Given the description of an element on the screen output the (x, y) to click on. 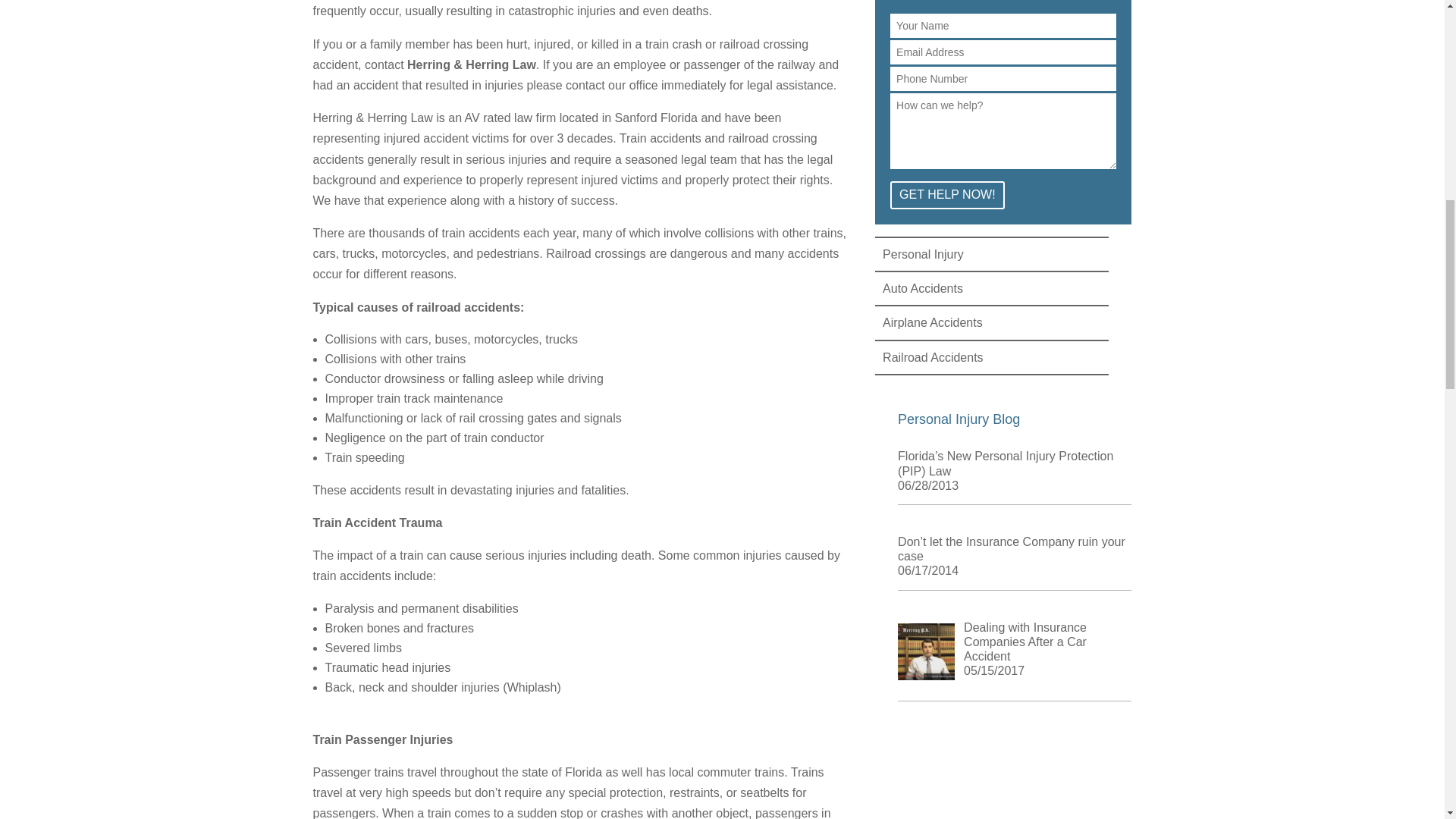
Dealing with Insurance Companies After a Car Accident (1024, 641)
Personal Injury (922, 254)
Airplane Accidents (932, 322)
GET HELP NOW! (946, 194)
Railroad Accidents (933, 357)
Auto Accidents (922, 287)
GET HELP NOW! (946, 194)
